Given the description of an element on the screen output the (x, y) to click on. 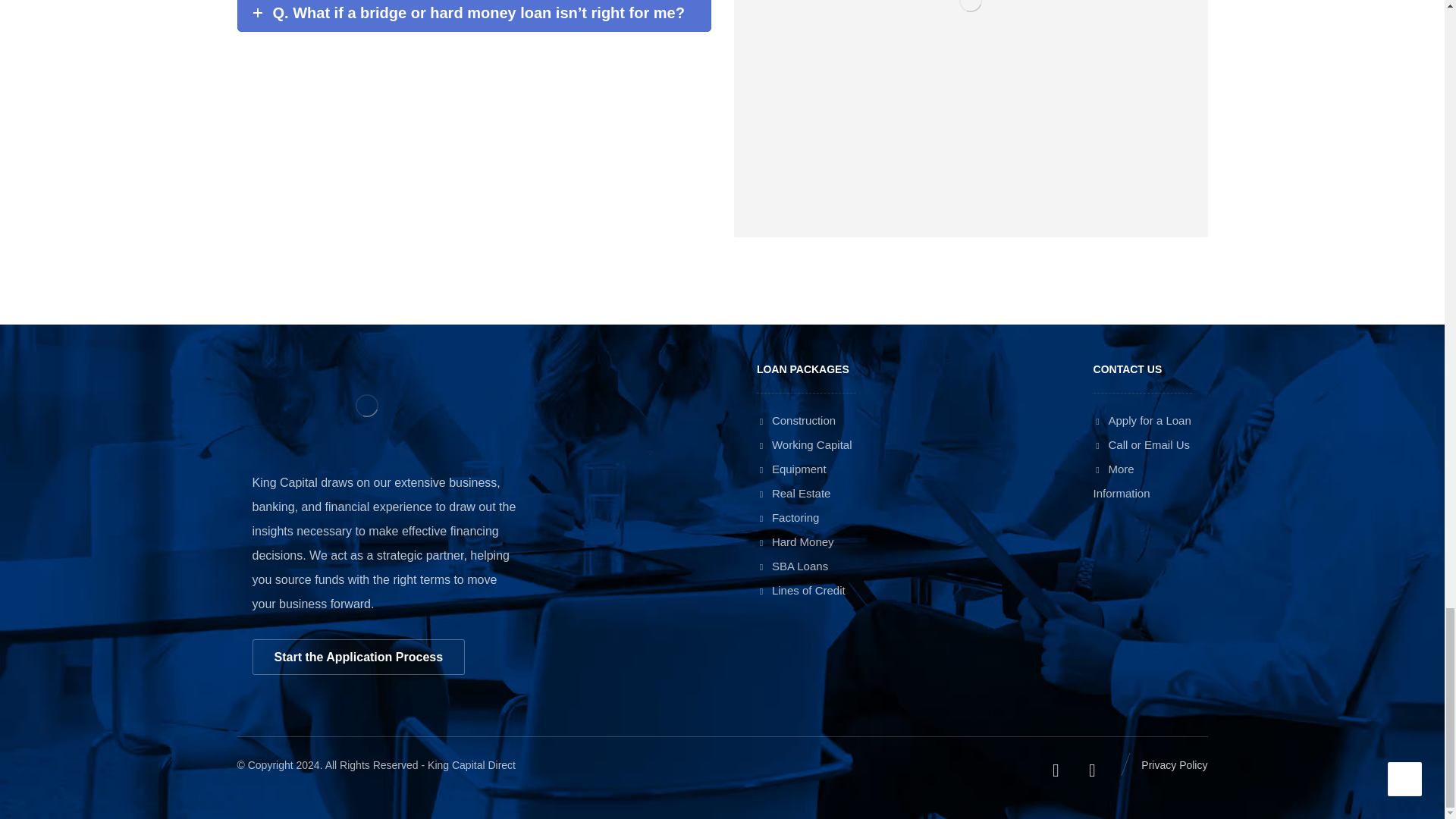
p6 (970, 118)
